Given the description of an element on the screen output the (x, y) to click on. 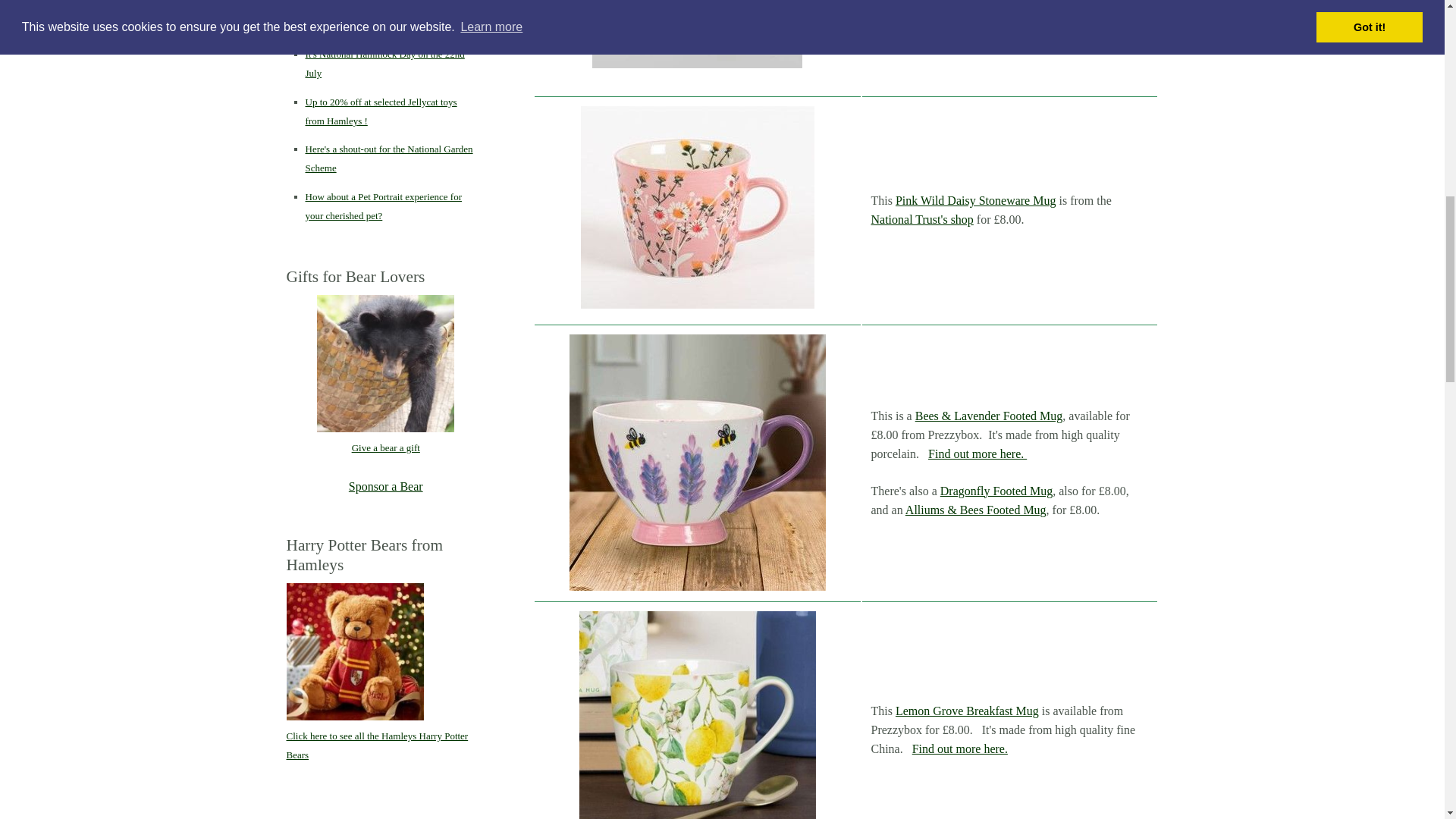
Introducing the Hamleys Harry Potter Bears! (354, 651)
This Lemon Grove Breakfast Mug is available from Prezzybox (697, 714)
Give a bear a gift (385, 363)
